Given the description of an element on the screen output the (x, y) to click on. 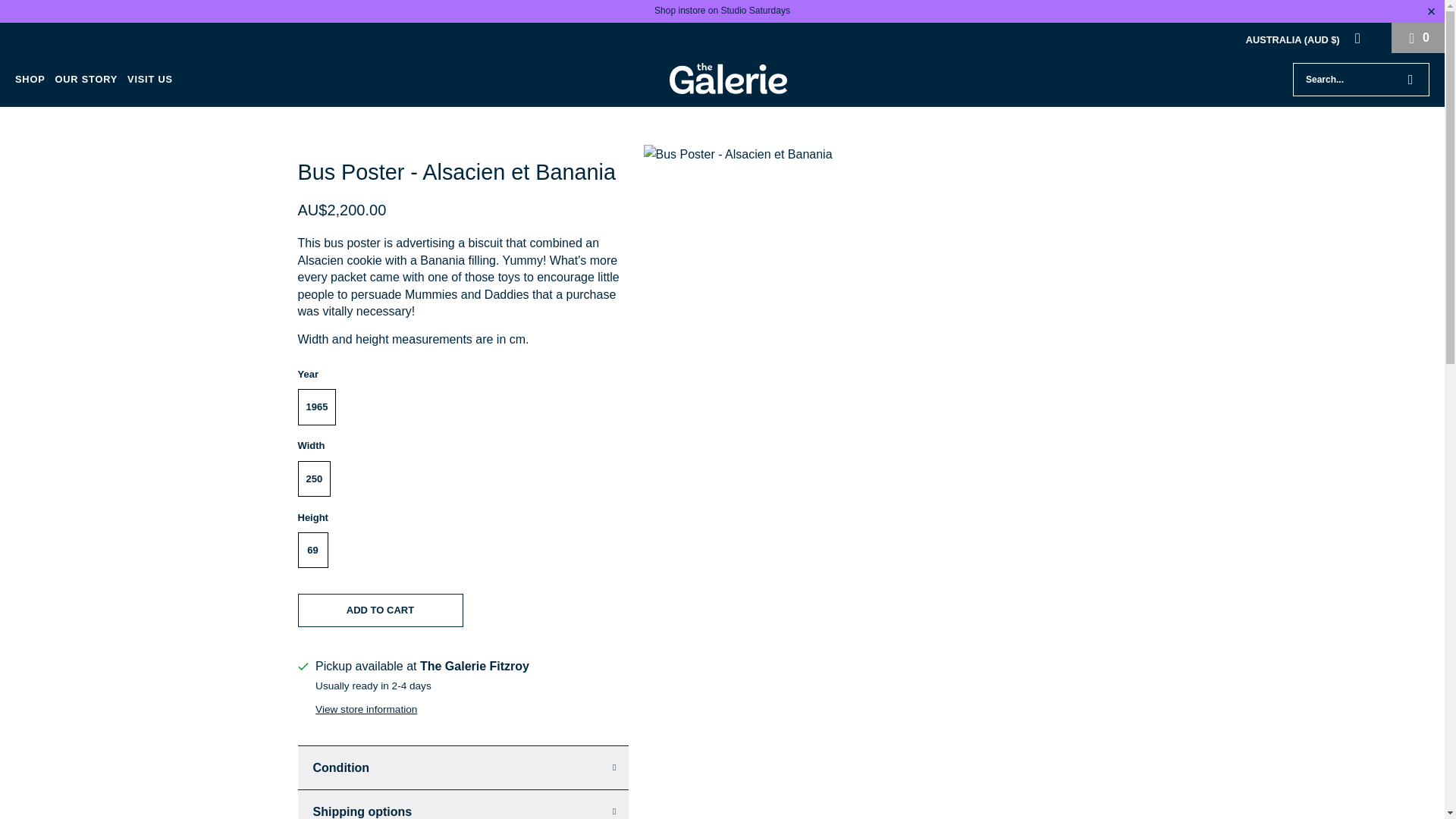
The Galerie Fitzroy (728, 79)
Visit us 2023 (721, 9)
